Given the description of an element on the screen output the (x, y) to click on. 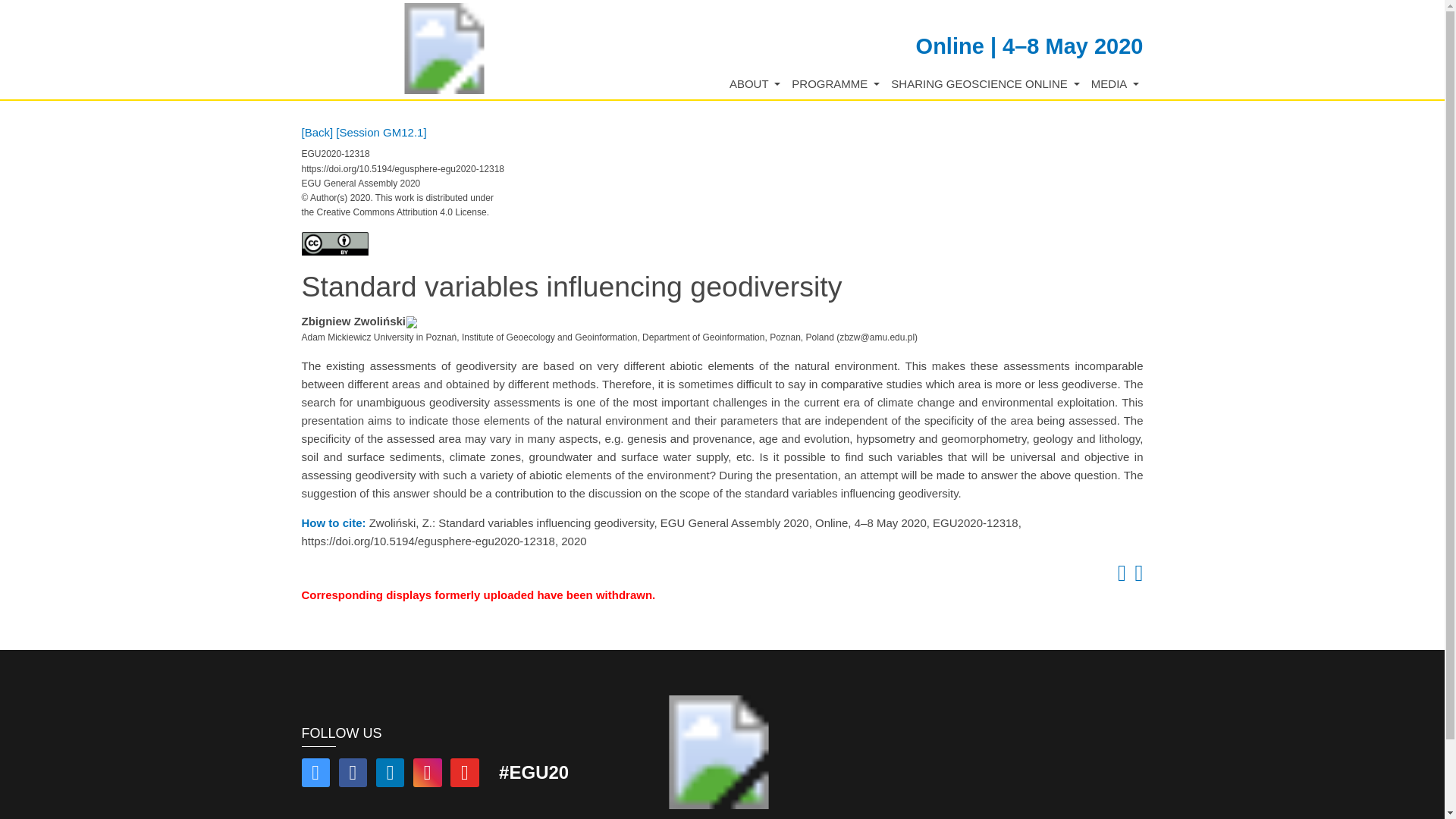
Open QR code linking to abstract URL (1135, 576)
SHARING GEOSCIENCE ONLINE (985, 84)
MEDIA (1114, 84)
Find us on LinkedIn (389, 775)
Copy to clipboard (1118, 576)
ABOUT (754, 84)
Find us on Instagram (427, 775)
PROGRAMME (835, 84)
Find us on YouTube (464, 775)
Follow us on Twitter (315, 775)
